Given the description of an element on the screen output the (x, y) to click on. 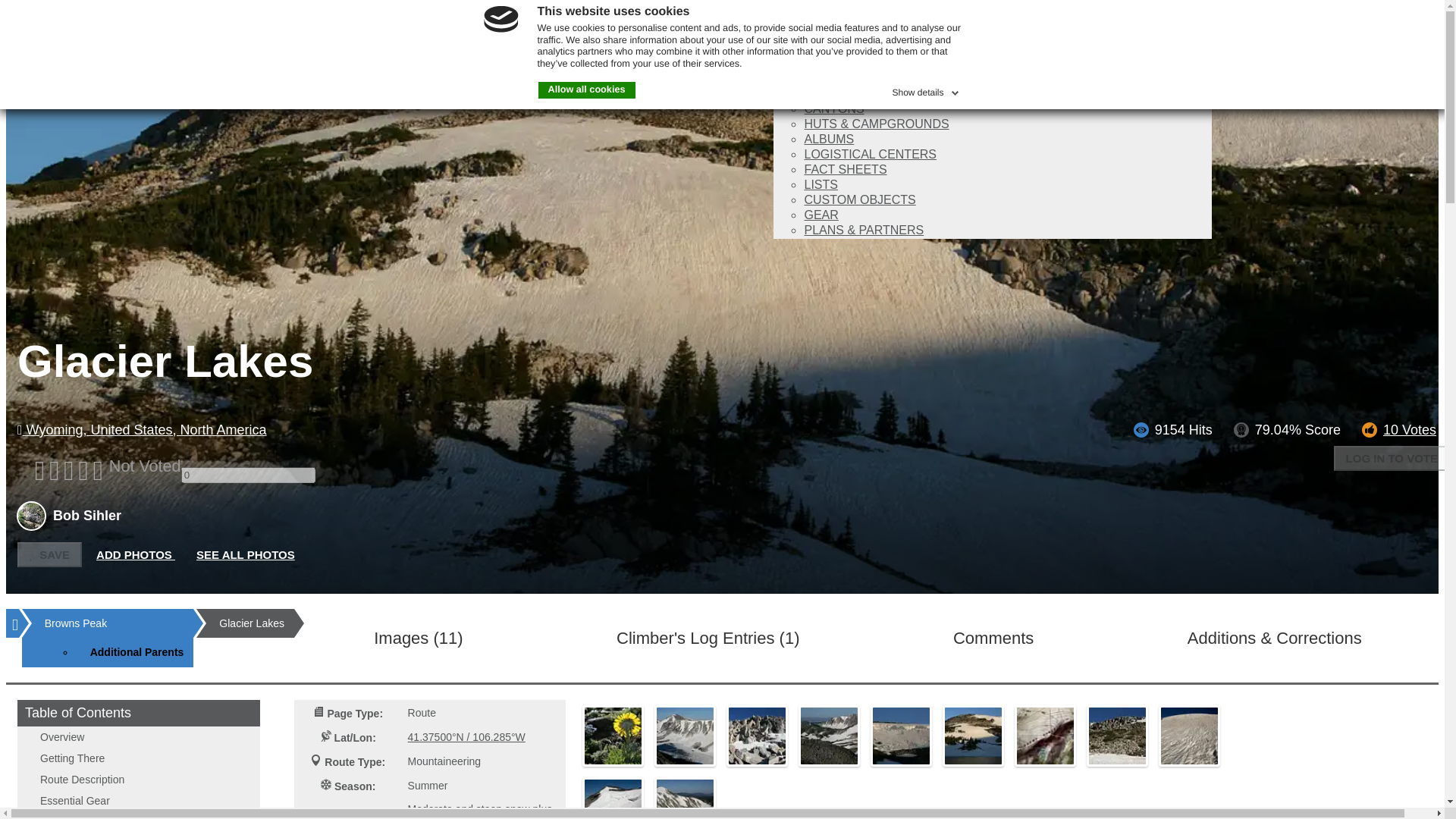
Allow all cookies (586, 89)
Show details (925, 89)
0 (247, 474)
